Given the description of an element on the screen output the (x, y) to click on. 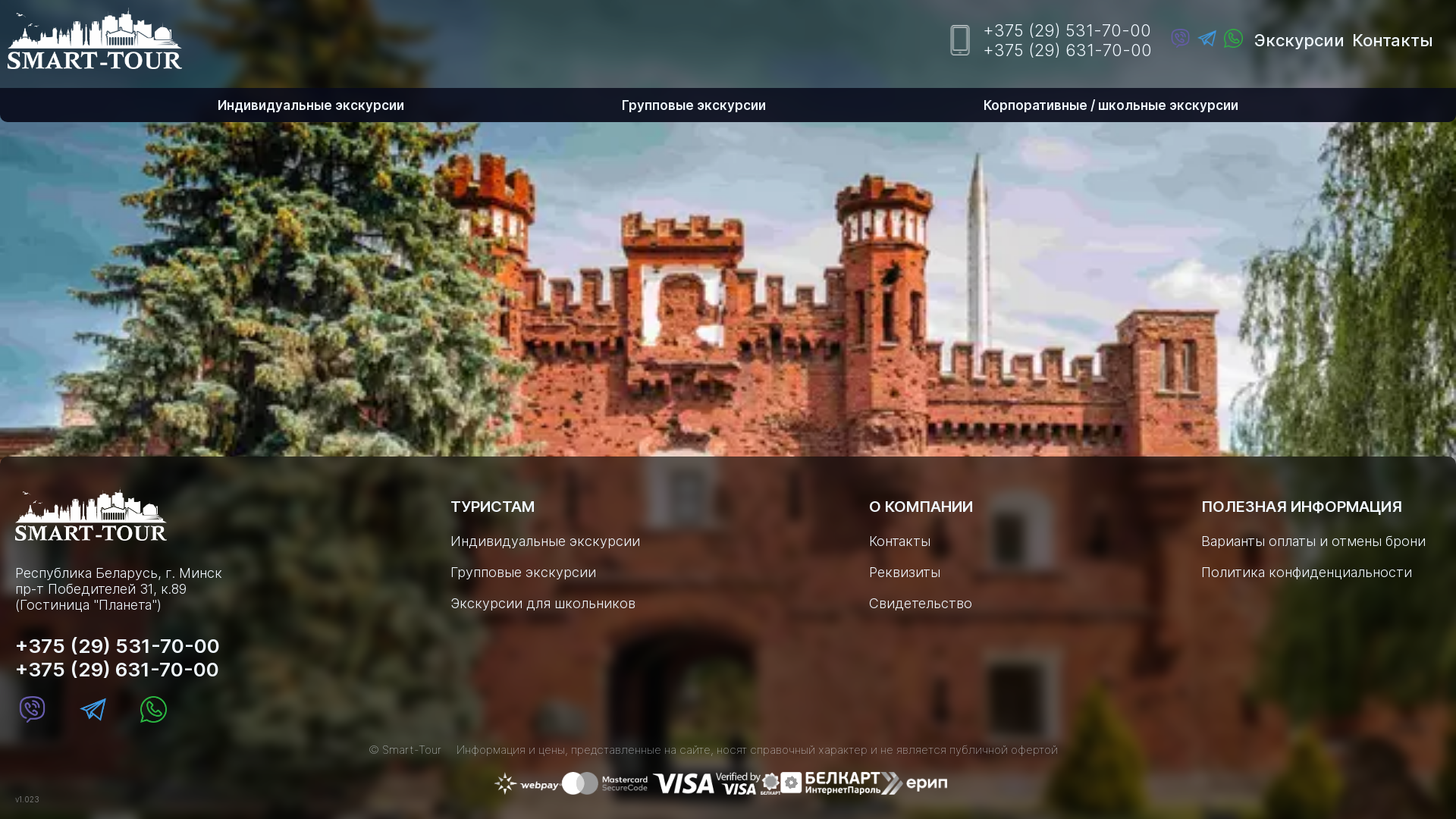
+375 (29) 531-70-00 Element type: text (1066, 30)
+375 (29) 531-70-00 Element type: text (118, 645)
+375 (29) 631-70-00 Element type: text (118, 668)
+375 (29) 631-70-00 Element type: text (1066, 49)
